Given the description of an element on the screen output the (x, y) to click on. 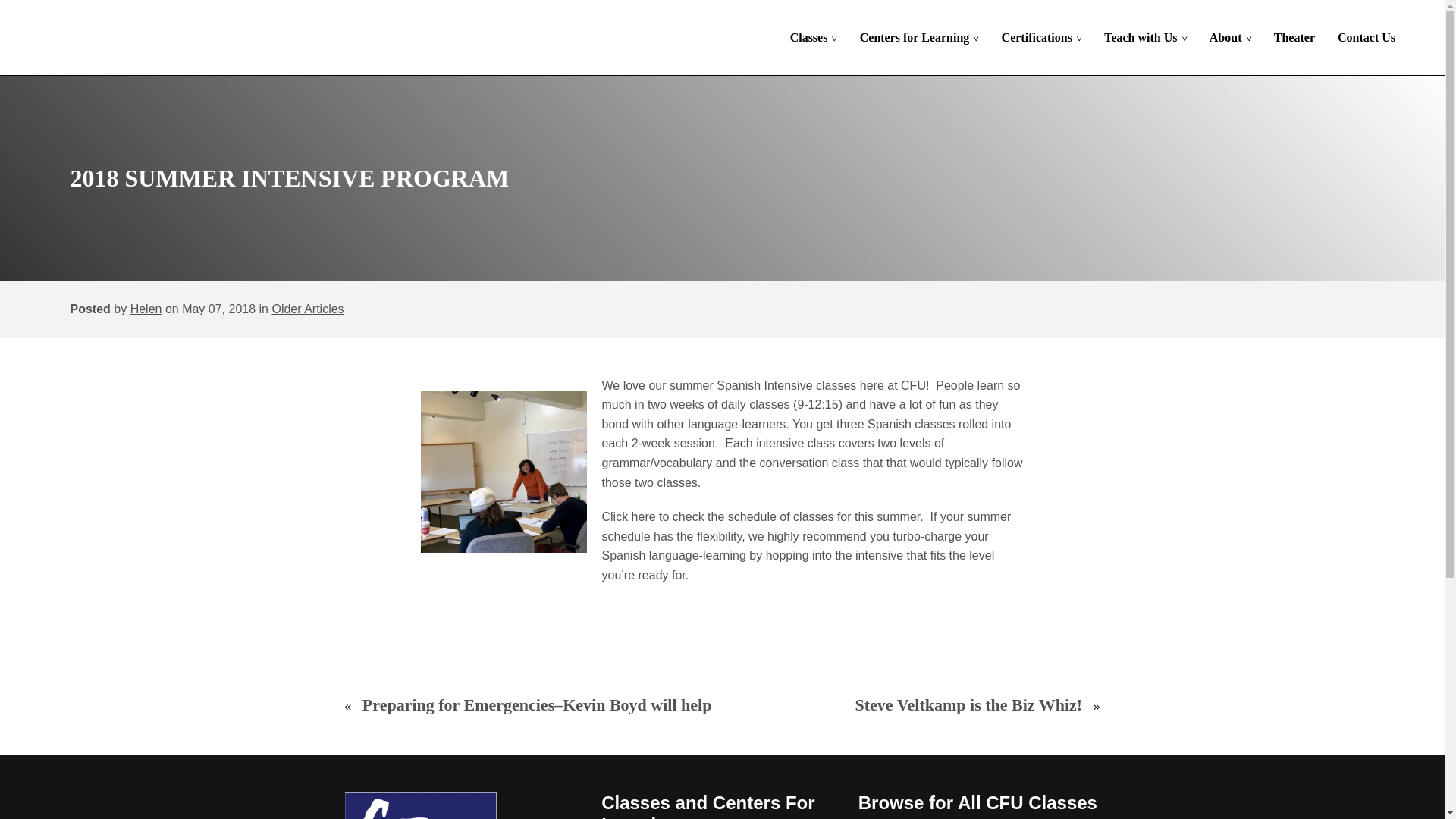
Contact Us (1366, 37)
Posts by Helen (146, 308)
Helen (146, 308)
Click here to check the schedule of classes (718, 516)
Older Articles (306, 308)
